Given the description of an element on the screen output the (x, y) to click on. 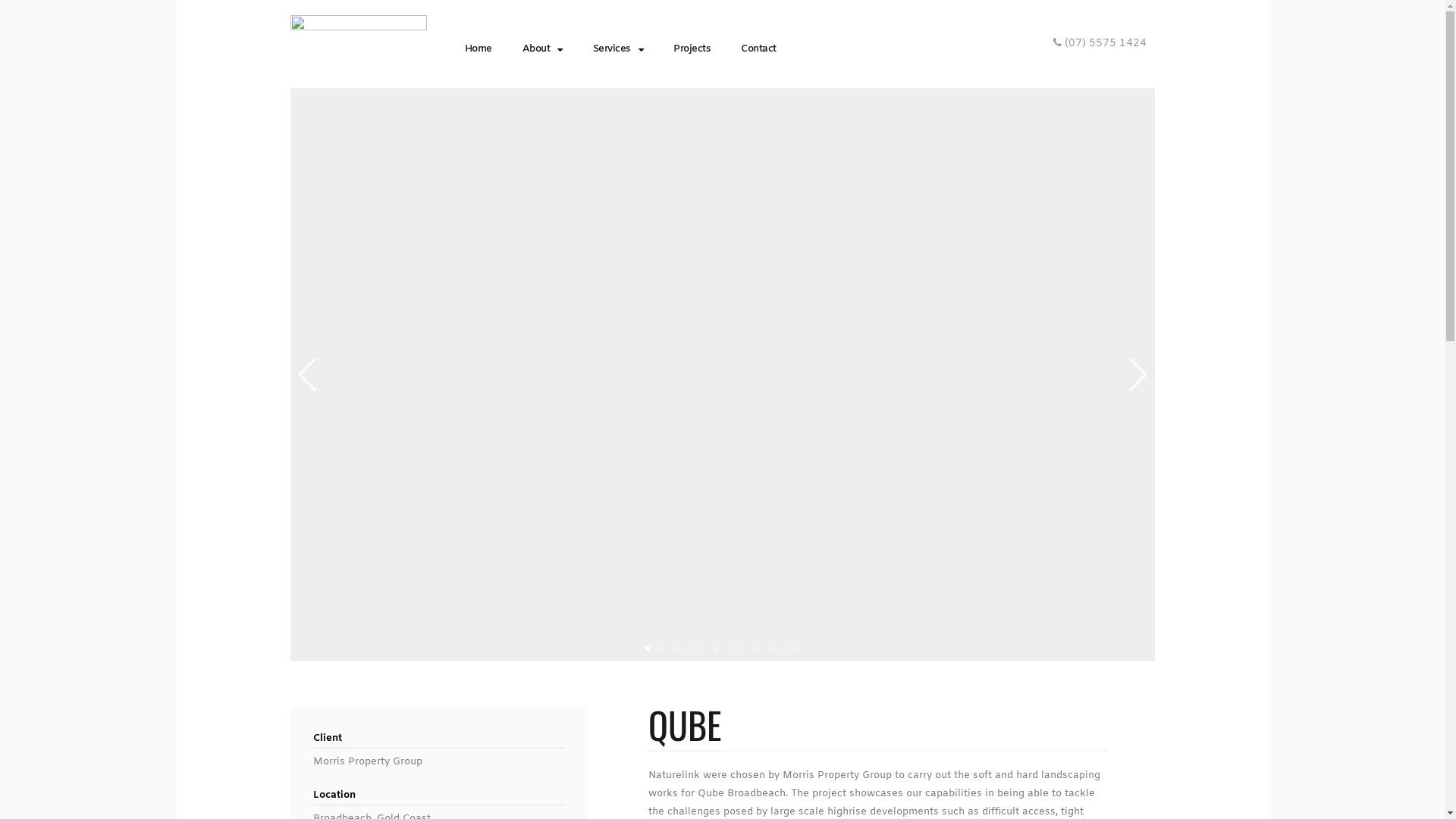
(07) 5575 1424 Element type: text (1099, 43)
Projects Element type: text (691, 48)
Contact Element type: text (758, 48)
Home Element type: text (477, 48)
Services Element type: text (617, 48)
About Element type: text (541, 48)
